Given the description of an element on the screen output the (x, y) to click on. 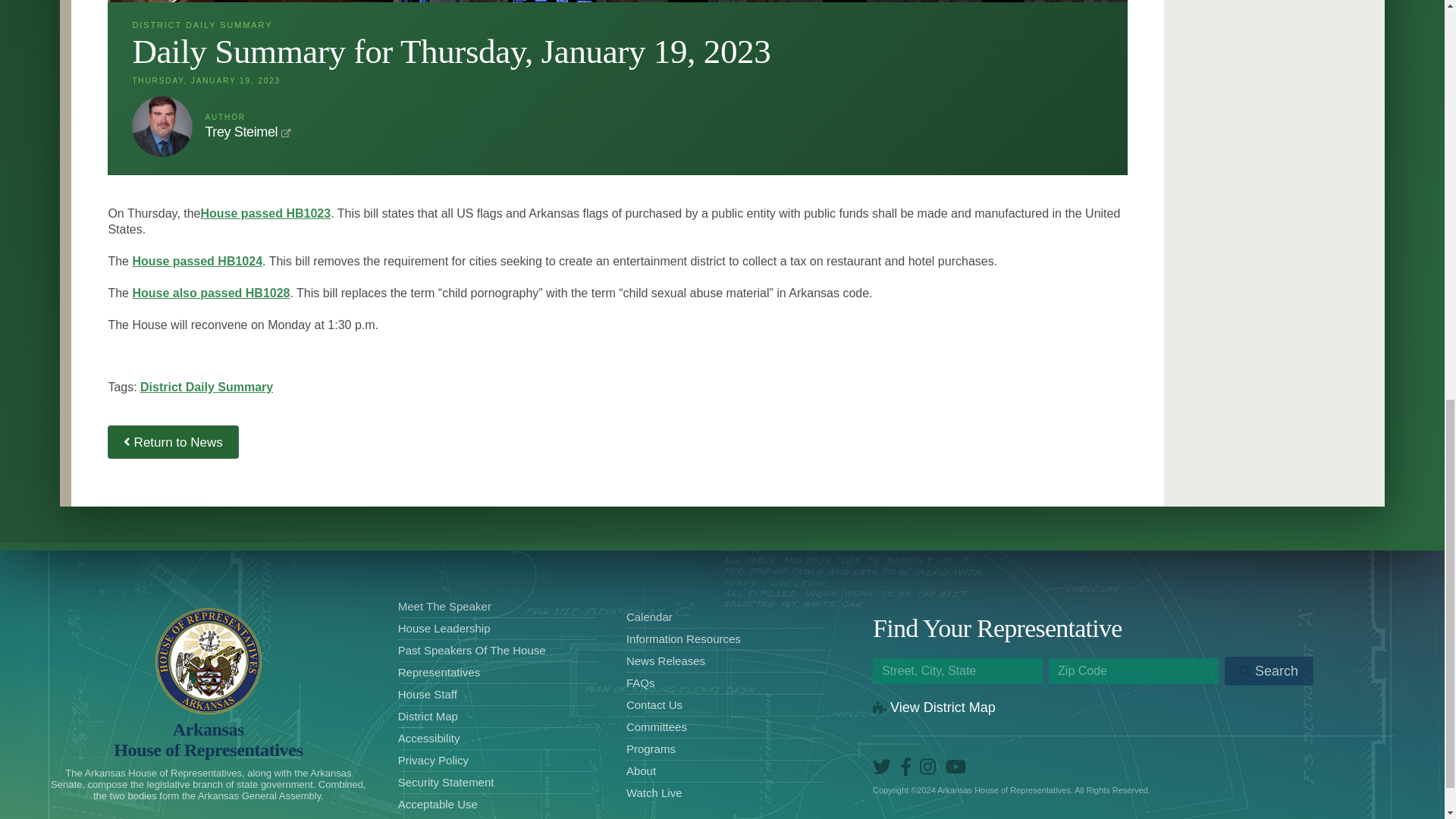
View District Map (933, 707)
Trey Steimel (162, 126)
Return to News (172, 441)
District Daily Summary (206, 386)
Trey Steimel (241, 131)
Trey Steimel (241, 131)
Trey Steimel (162, 126)
House passed HB1023 (265, 213)
Back to News (172, 441)
House also passed HB1028 (210, 292)
House passed HB1024 (197, 260)
